Given the description of an element on the screen output the (x, y) to click on. 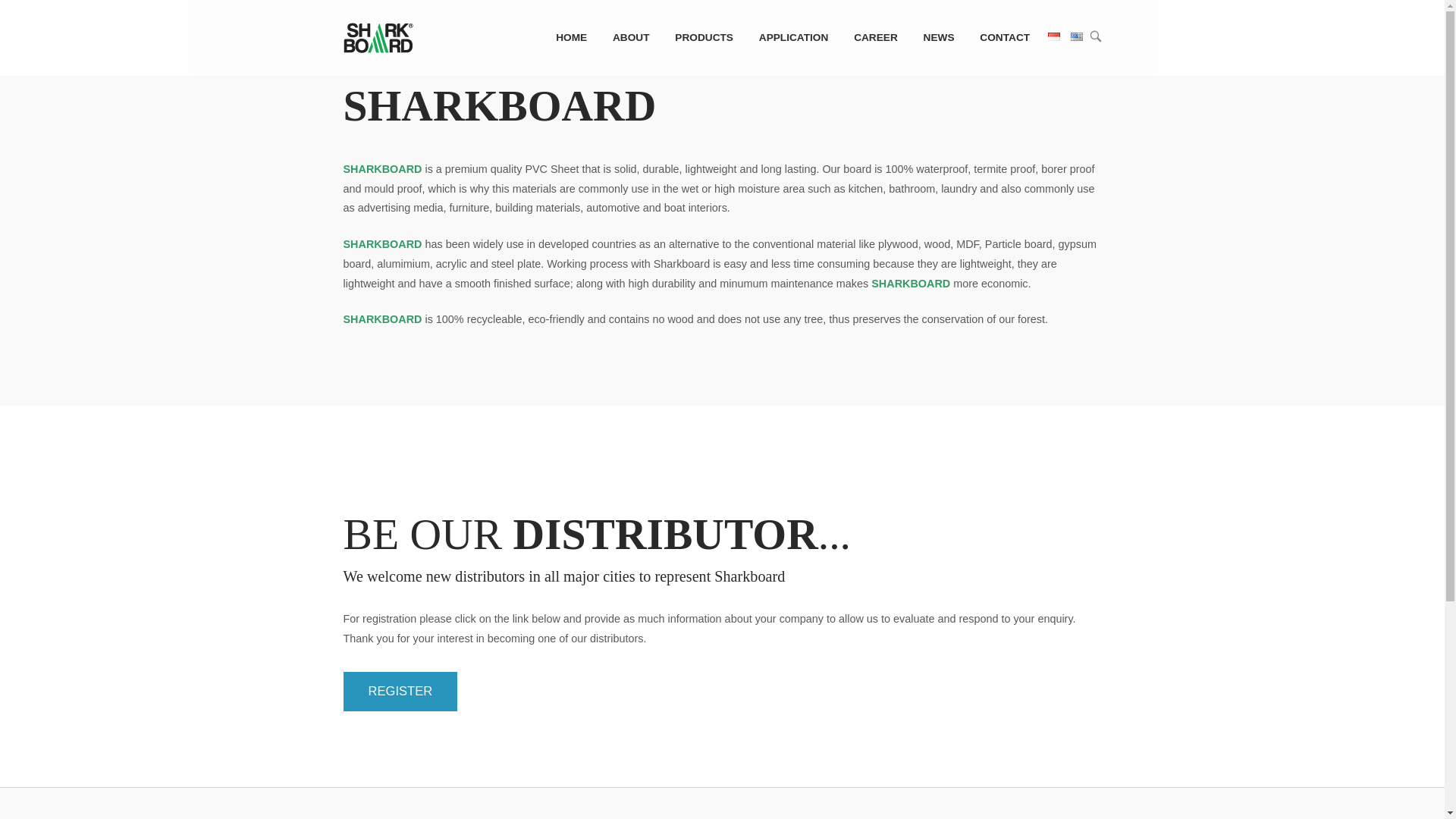
CAREER (875, 37)
CONTACT (1004, 37)
APPLICATION (794, 37)
ABOUT (631, 37)
REGISTER (399, 691)
Home (377, 37)
HOME (571, 37)
PRODUCTS (703, 37)
NEWS (939, 37)
